Given the description of an element on the screen output the (x, y) to click on. 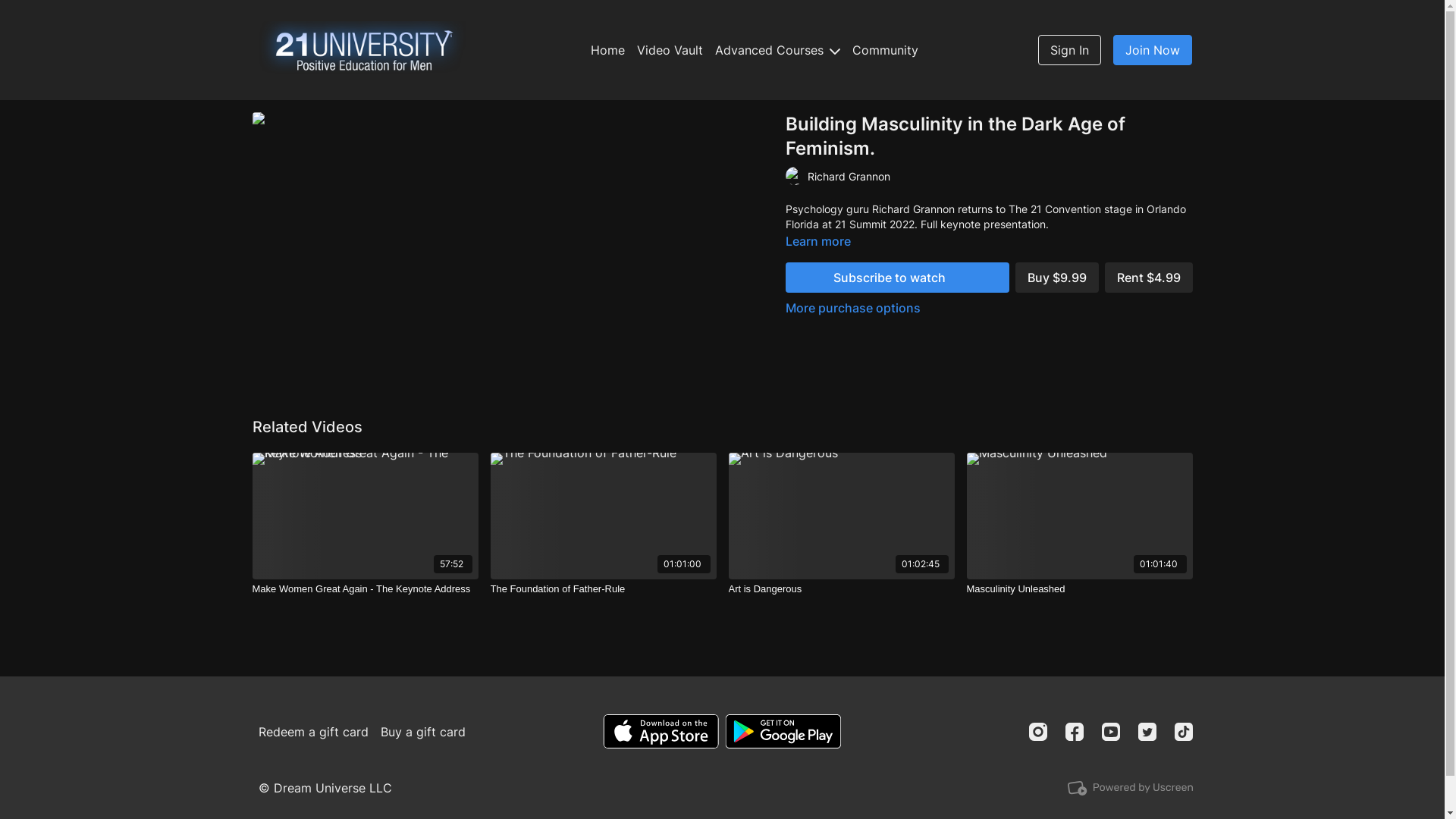
Join Now Element type: text (1152, 49)
Community Element type: text (885, 49)
Redeem a gift card Element type: text (313, 730)
Video Vault Element type: text (669, 49)
01:01:00 Element type: text (602, 515)
Advanced Courses Element type: text (777, 49)
Sign In Element type: text (1069, 49)
01:02:45 Element type: text (840, 515)
The Foundation of Father-Rule Element type: text (602, 588)
Home Element type: text (607, 49)
Buy a gift card Element type: text (422, 730)
Make Women Great Again - The Keynote Address Element type: text (364, 588)
Masculinity Unleashed Element type: text (1079, 588)
Art is Dangerous Element type: text (840, 588)
01:01:40 Element type: text (1079, 515)
57:52 Element type: text (364, 515)
